Given the description of an element on the screen output the (x, y) to click on. 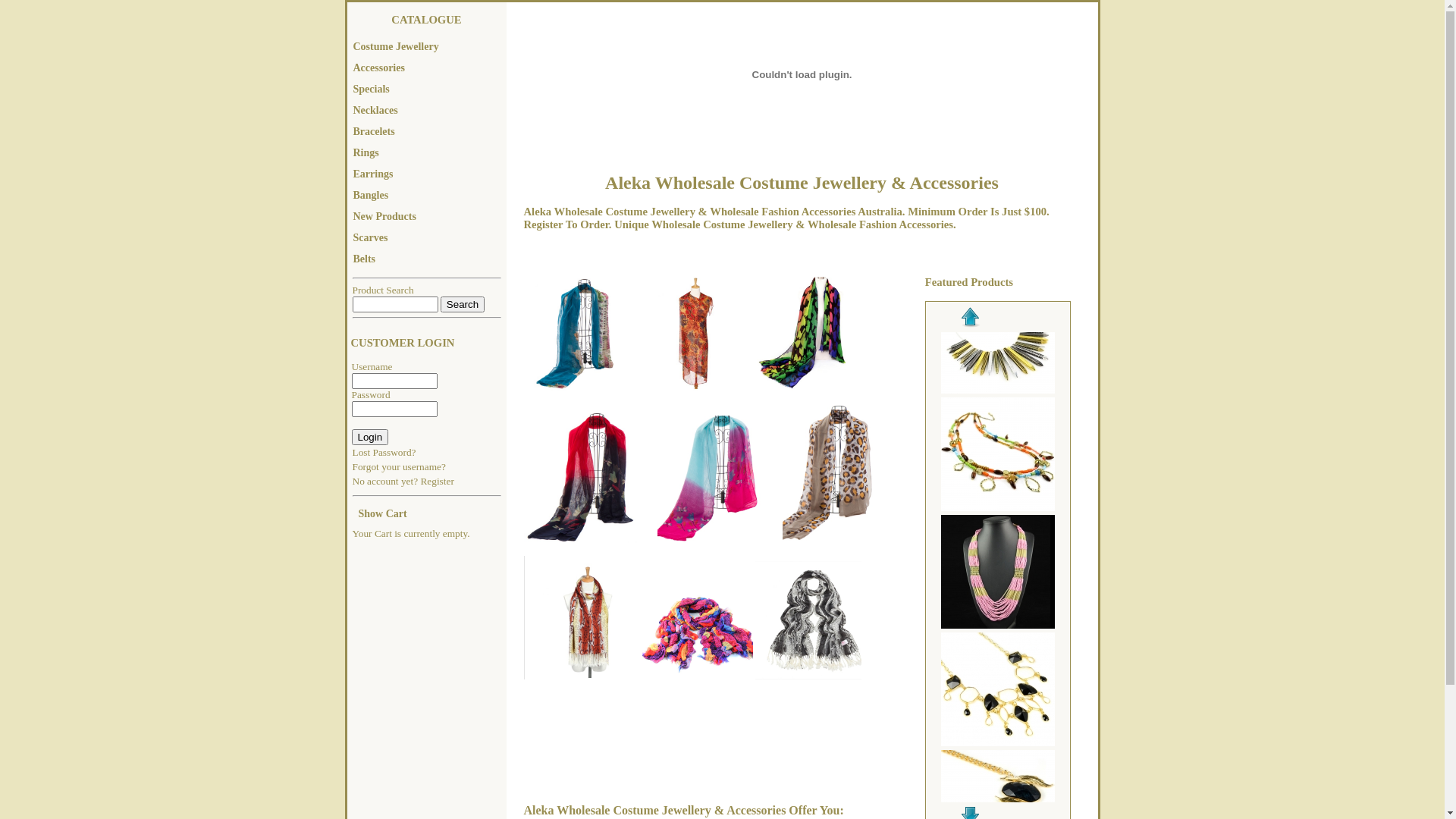
Search Element type: hover (394, 304)
New Products Element type: text (426, 217)
Costume Jewellery Element type: text (426, 47)
Register Element type: text (436, 480)
Forgot your username? Element type: text (398, 466)
Show Cart Element type: text (425, 514)
Belts Element type: text (426, 259)
Scarves Element type: text (426, 238)
Lost Password? Element type: text (383, 452)
Bracelets Element type: text (426, 132)
Search Element type: text (462, 304)
Earrings Element type: text (426, 174)
Rings Element type: text (426, 153)
Accessories Element type: text (426, 68)
Specials Element type: text (426, 89)
Bangles Element type: text (426, 196)
Login Element type: text (370, 437)
Necklaces Element type: text (426, 111)
